Given the description of an element on the screen output the (x, y) to click on. 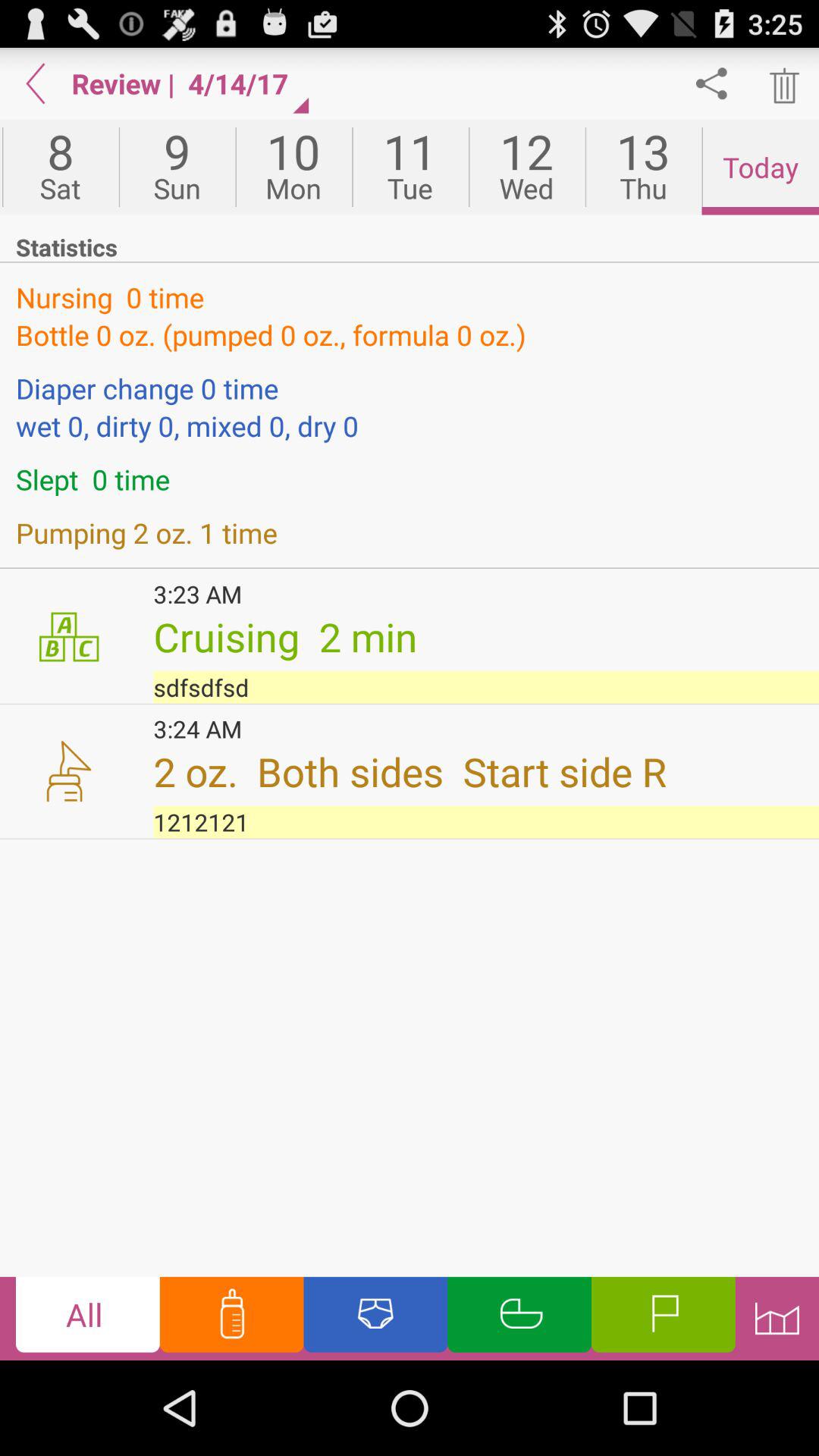
turn on button above all (486, 821)
